Given the description of an element on the screen output the (x, y) to click on. 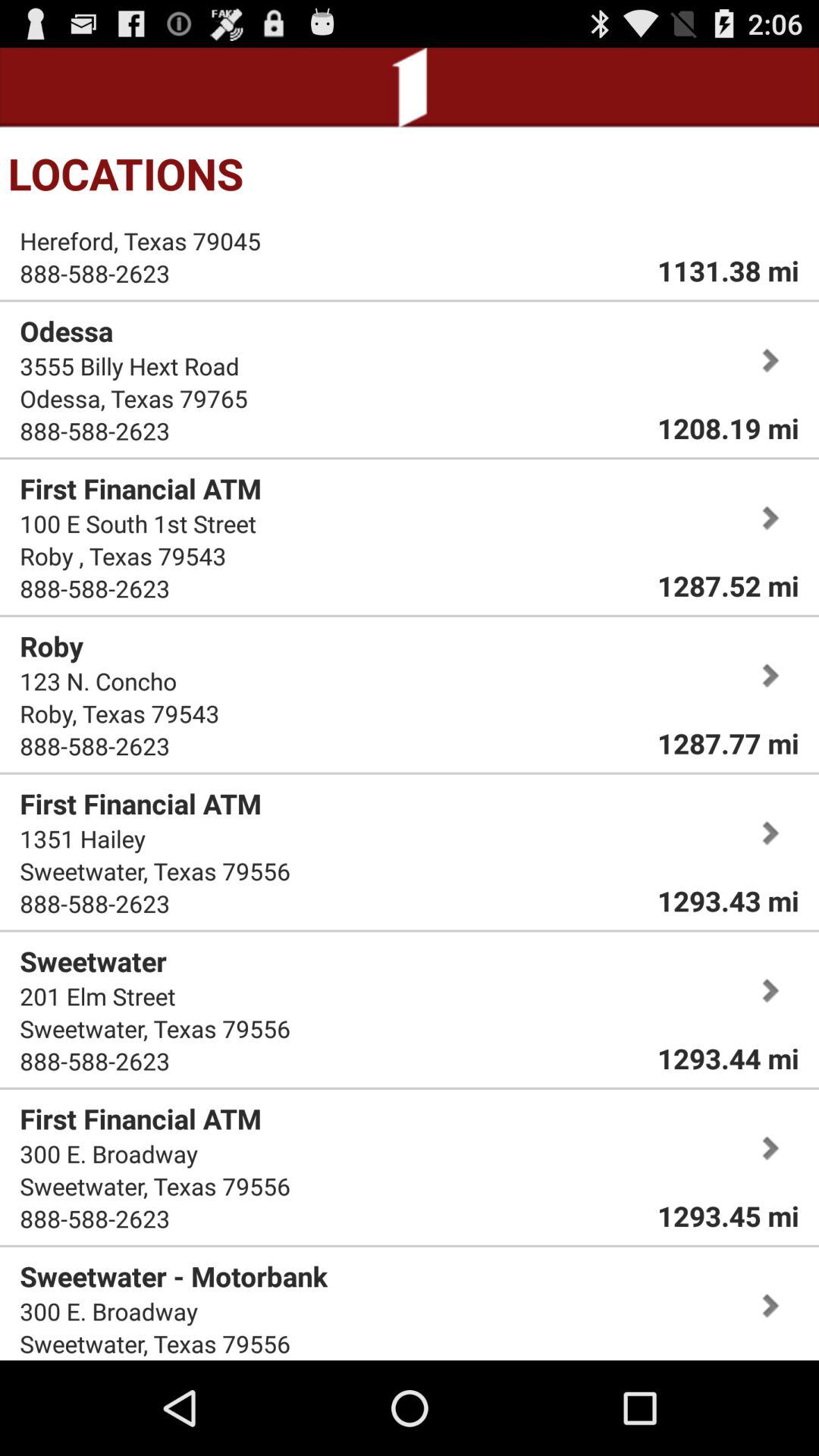
select the app below the odessa item (129, 365)
